Given the description of an element on the screen output the (x, y) to click on. 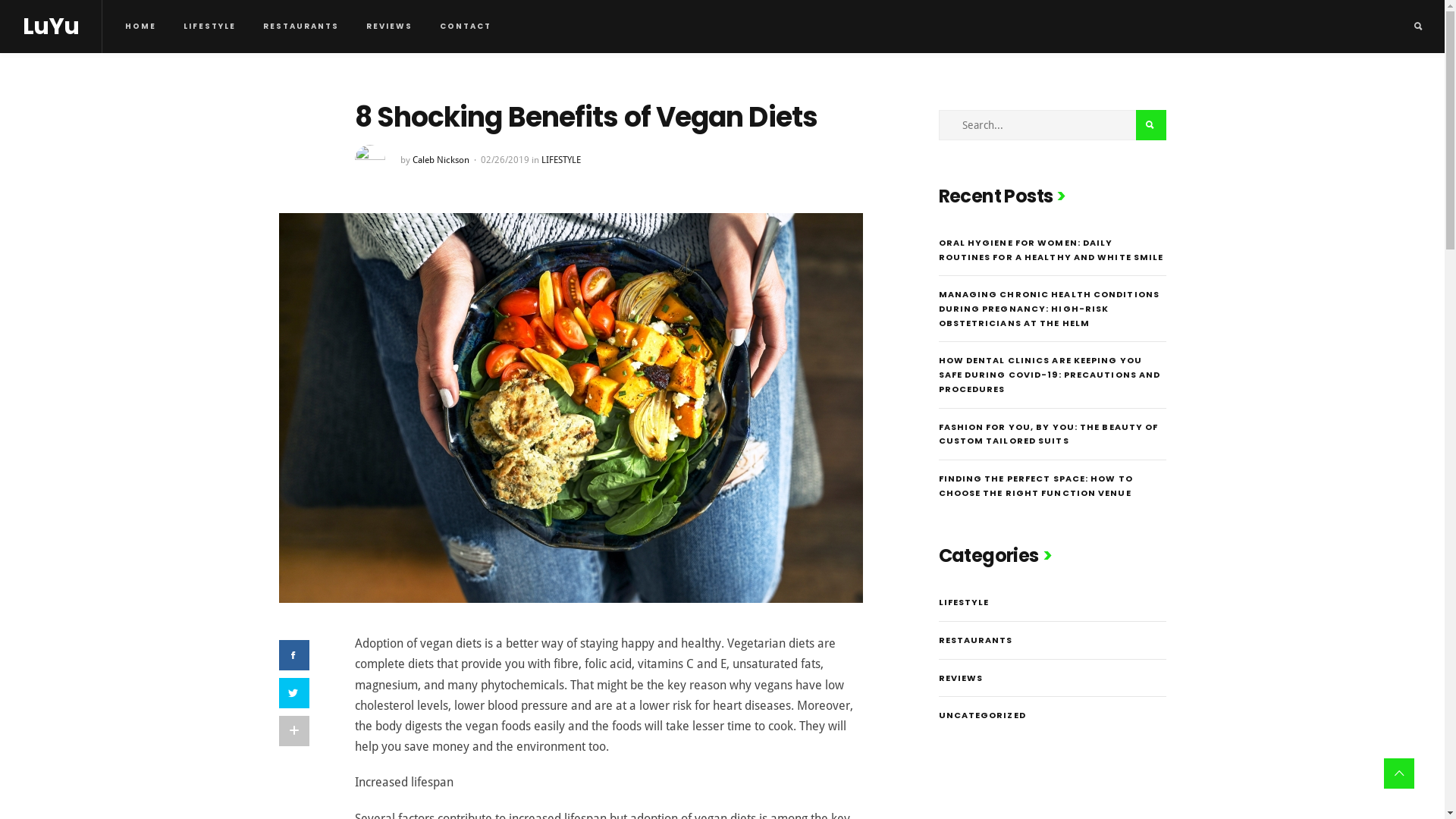
REVIEWS Element type: text (389, 26)
UNCATEGORIZED Element type: text (982, 715)
02/26/2019 Element type: text (504, 159)
Share this Element type: hover (294, 655)
RESTAURANTS Element type: text (300, 26)
8 Shocking Benefits of Vegan Diets Element type: hover (570, 406)
HOME Element type: text (140, 26)
LIFESTYLE Element type: text (963, 602)
REVIEWS Element type: text (960, 677)
LIFESTYLE Element type: text (209, 26)
RESTAURANTS Element type: text (975, 639)
LIFESTYLE Element type: text (560, 159)
Tweet Element type: hover (294, 692)
Caleb Nickson Element type: text (440, 159)
FASHION FOR YOU, BY YOU: THE BEAUTY OF CUSTOM TAILORED SUITS Element type: text (1048, 433)
CONTACT Element type: text (465, 26)
LuYu Element type: text (50, 26)
